Given the description of an element on the screen output the (x, y) to click on. 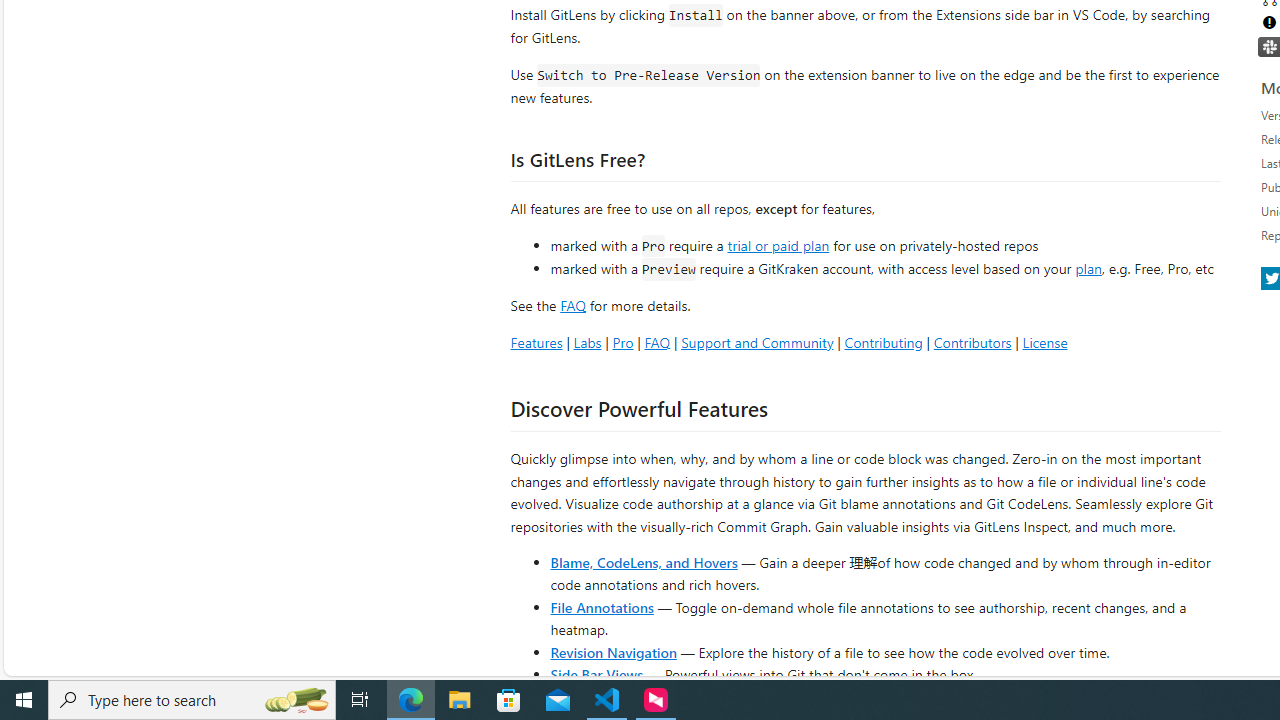
Labs (587, 341)
Revision Navigation (613, 651)
Pro (622, 341)
License (1044, 341)
Contributing (882, 341)
Contributors (972, 341)
Side Bar Views (596, 673)
Support and Community (757, 341)
FAQ (656, 341)
Features (536, 341)
Blame, CodeLens, and Hovers (644, 561)
